Given the description of an element on the screen output the (x, y) to click on. 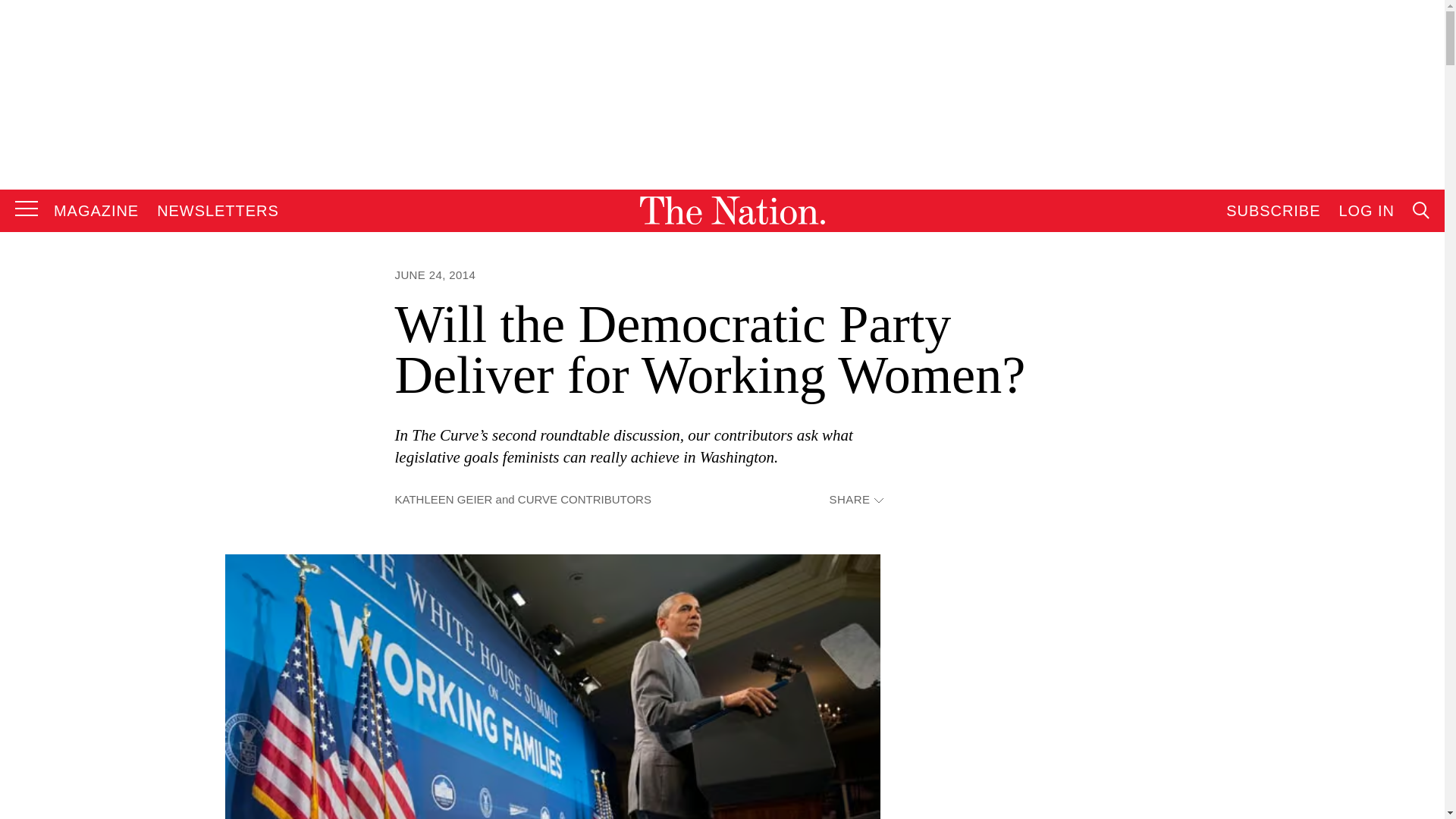
Search (1278, 364)
LOG IN (1366, 210)
NEWSLETTERS (218, 210)
SHARE (855, 499)
KATHLEEN GEIER (443, 499)
MAGAZINE (95, 210)
CURVE CONTRIBUTORS (584, 499)
SUBSCRIBE (1272, 210)
